Given the description of an element on the screen output the (x, y) to click on. 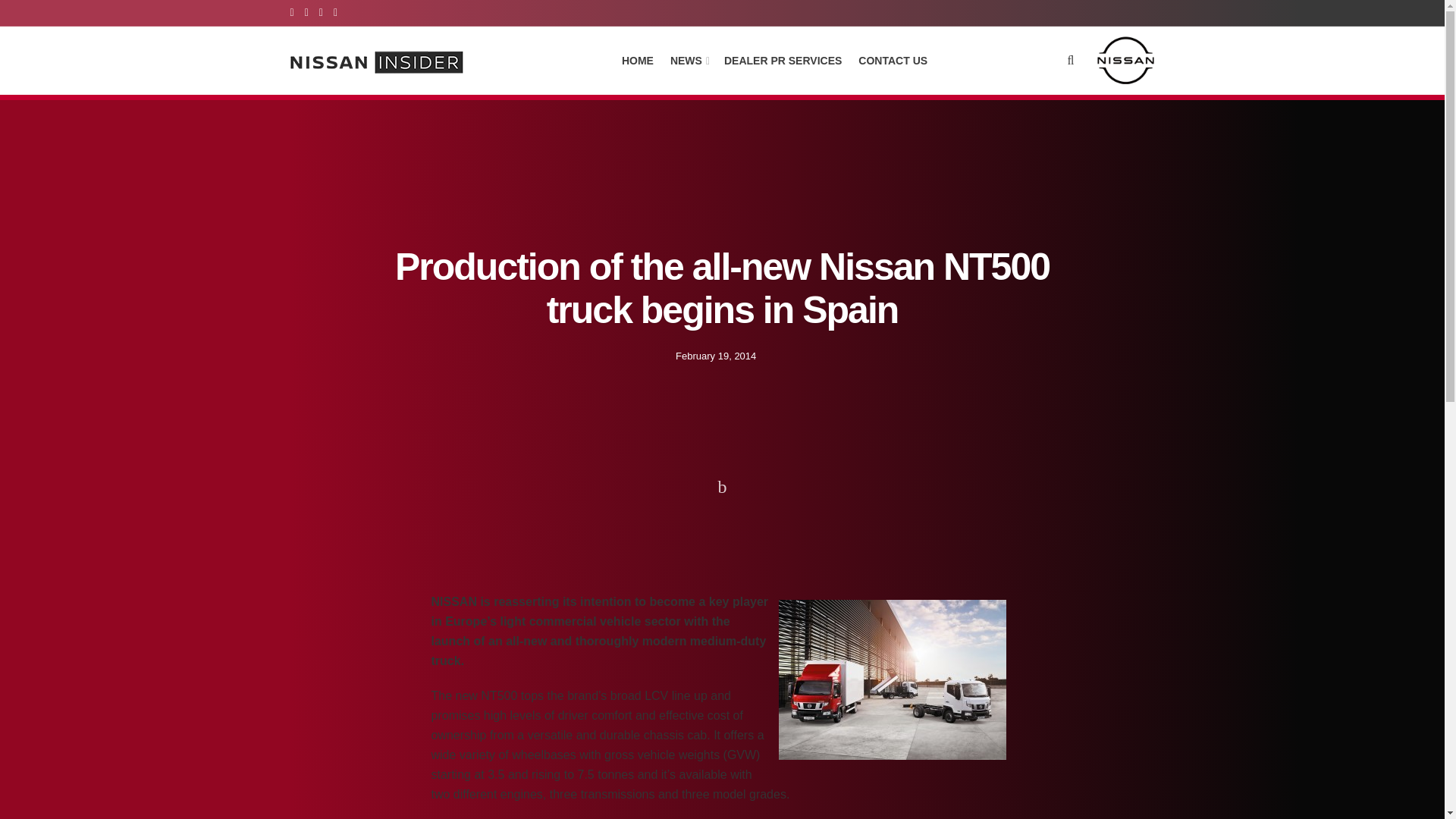
DEALER PR SERVICES (782, 60)
Home (301, 523)
February 19, 2014 (715, 355)
NEWS (688, 60)
HOME (637, 60)
CONTACT US (893, 60)
Uncategorized (356, 523)
